Given the description of an element on the screen output the (x, y) to click on. 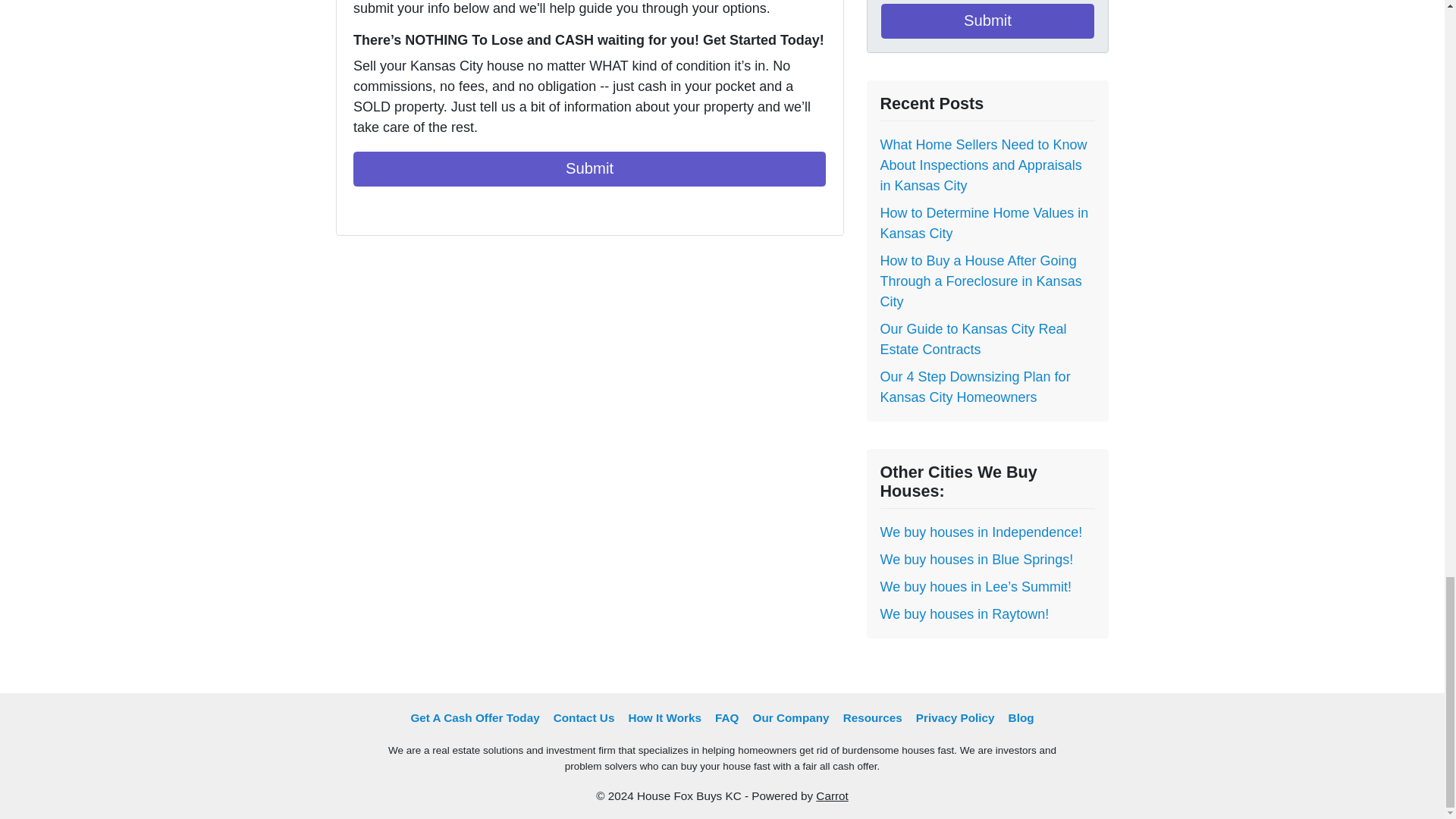
Submit (589, 168)
Contact Us (584, 717)
How to Determine Home Values in Kansas City (983, 222)
Submit (589, 168)
YouTube (383, 208)
Submit (987, 21)
Our 4 Step Downsizing Plan for Kansas City Homeowners (974, 386)
Submit (987, 21)
We buy houses in Independence! (980, 531)
Facebook (362, 208)
We buy houses in Raytown! (963, 613)
We buy houses in Blue Springs! (976, 559)
Our Guide to Kansas City Real Estate Contracts (972, 339)
Get A Cash Offer Today (474, 717)
